Given the description of an element on the screen output the (x, y) to click on. 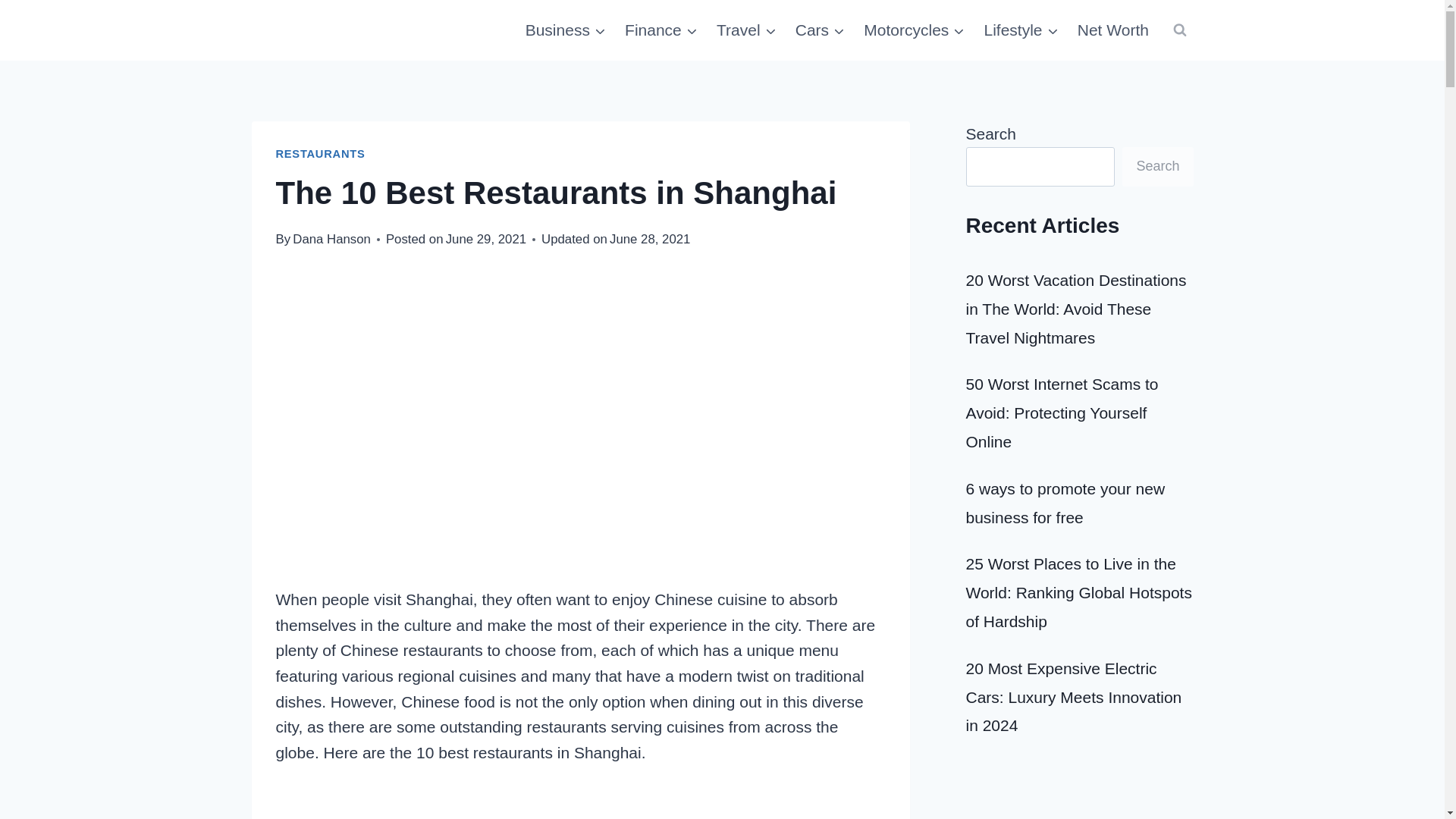
Finance (661, 30)
Business (564, 30)
Cars (820, 30)
Travel (746, 30)
